Given the description of an element on the screen output the (x, y) to click on. 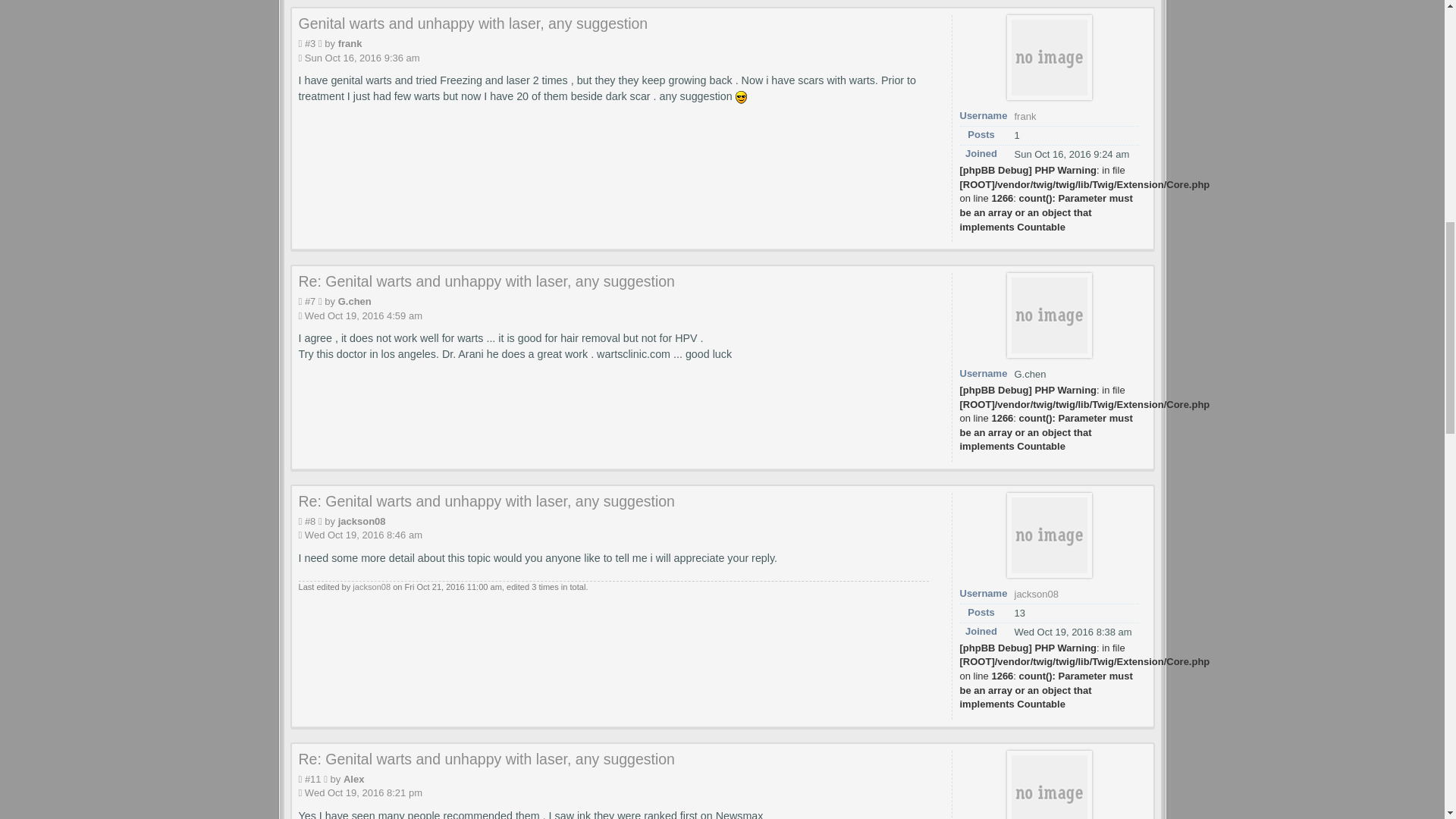
Re: Genital warts and unhappy with laser, any suggestion (486, 280)
Post (312, 778)
Post (309, 301)
Post (309, 43)
frank (349, 43)
Genital warts and unhappy with laser, any suggestion (472, 23)
Post (309, 521)
jackson08 (1036, 593)
jackson08 (371, 586)
Re: Genital warts and unhappy with laser, any suggestion (486, 501)
